Given the description of an element on the screen output the (x, y) to click on. 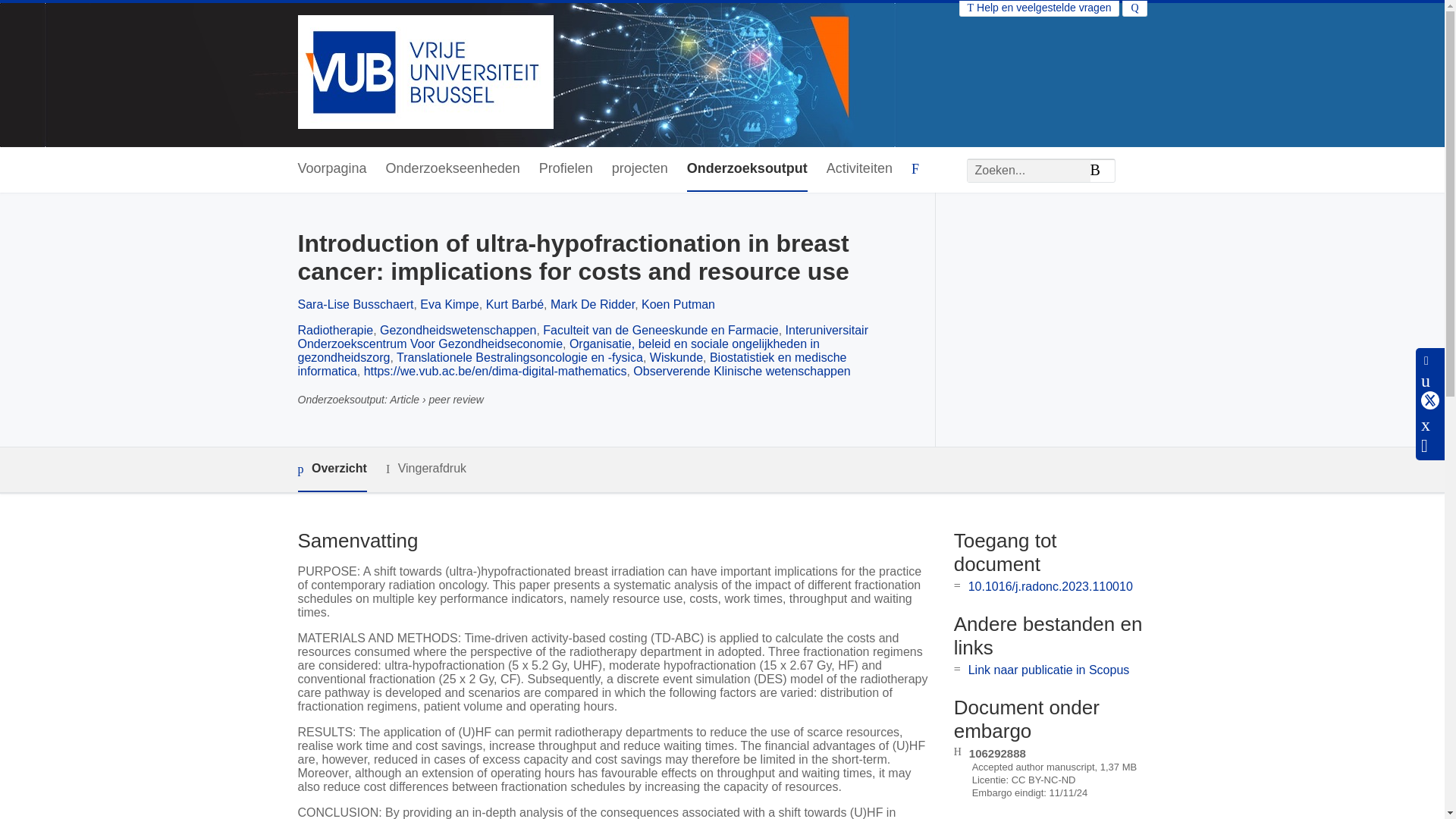
Onderzoeksoutput (747, 169)
Sara-Lise Busschaert (355, 304)
Observerende Klinische wetenschappen (741, 370)
projecten (639, 169)
Biostatistiek en medische informatica (571, 364)
Overzicht (331, 469)
Help en veelgestelde vragen (1039, 7)
Interuniversitair Onderzoekscentrum Voor Gezondheidseconomie (582, 336)
Activiteiten (859, 169)
Profielen (565, 169)
